Given the description of an element on the screen output the (x, y) to click on. 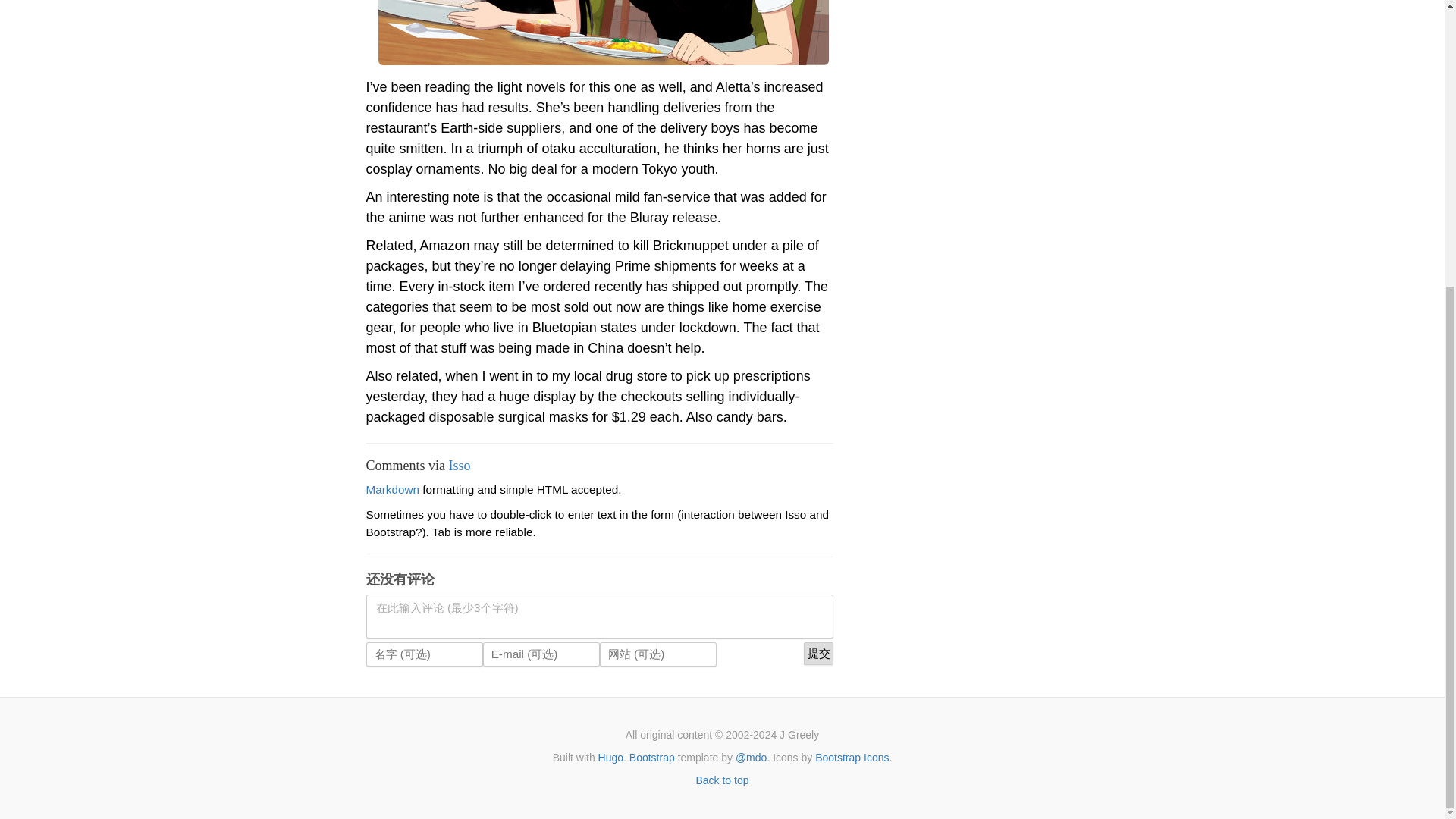
Hugo (610, 757)
Back to top (721, 779)
Bootstrap (651, 757)
Isso (459, 465)
Bootstrap Icons (851, 757)
Markdown (392, 489)
